Given the description of an element on the screen output the (x, y) to click on. 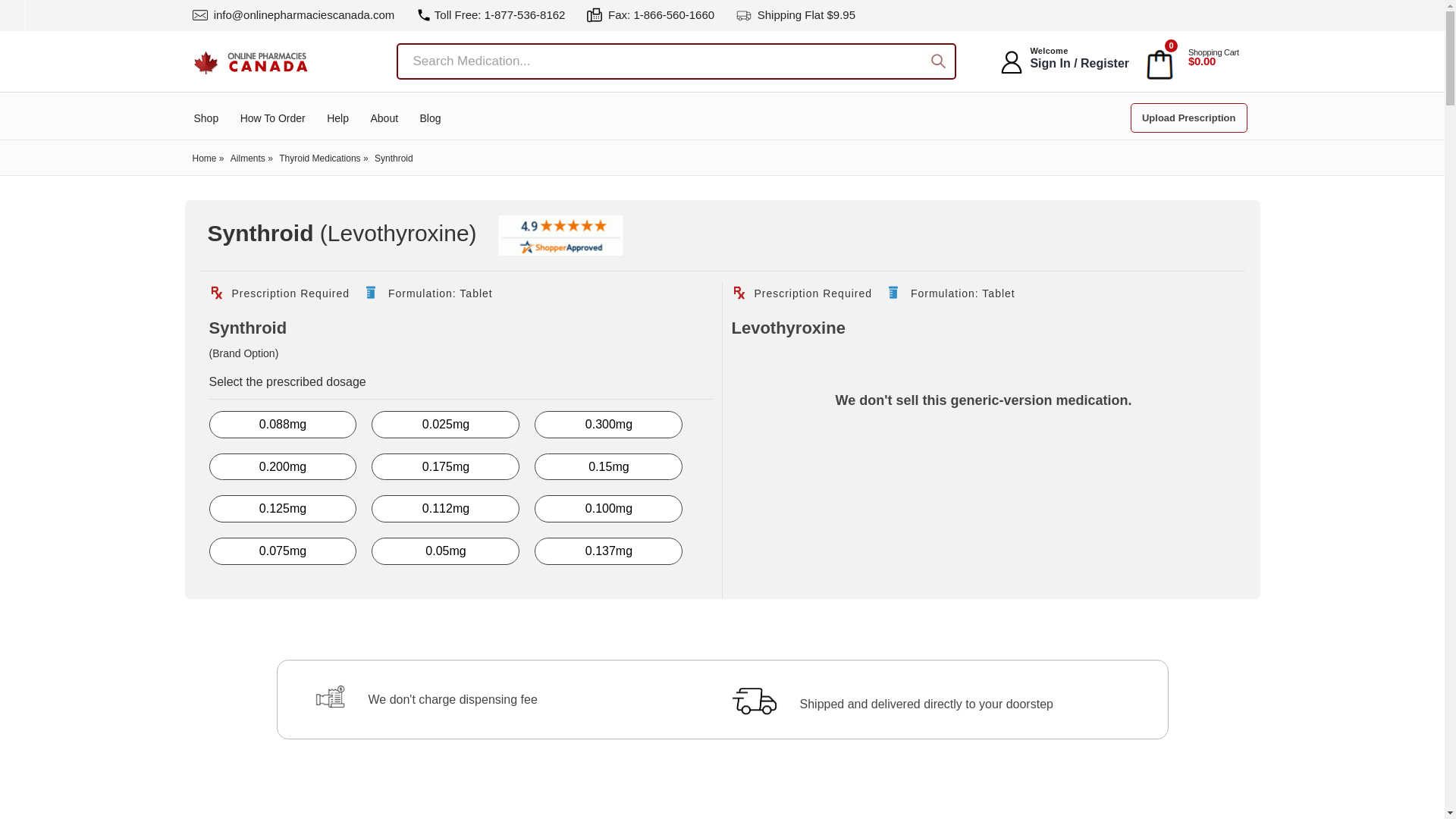
Fax: 1-866-560-1660 (650, 14)
0 (1158, 62)
Search (938, 62)
How To Order (272, 118)
Shop (206, 118)
Help (337, 118)
About (383, 118)
Toll Free: 1-877-536-8162 (491, 14)
Blog (430, 118)
